Given the description of an element on the screen output the (x, y) to click on. 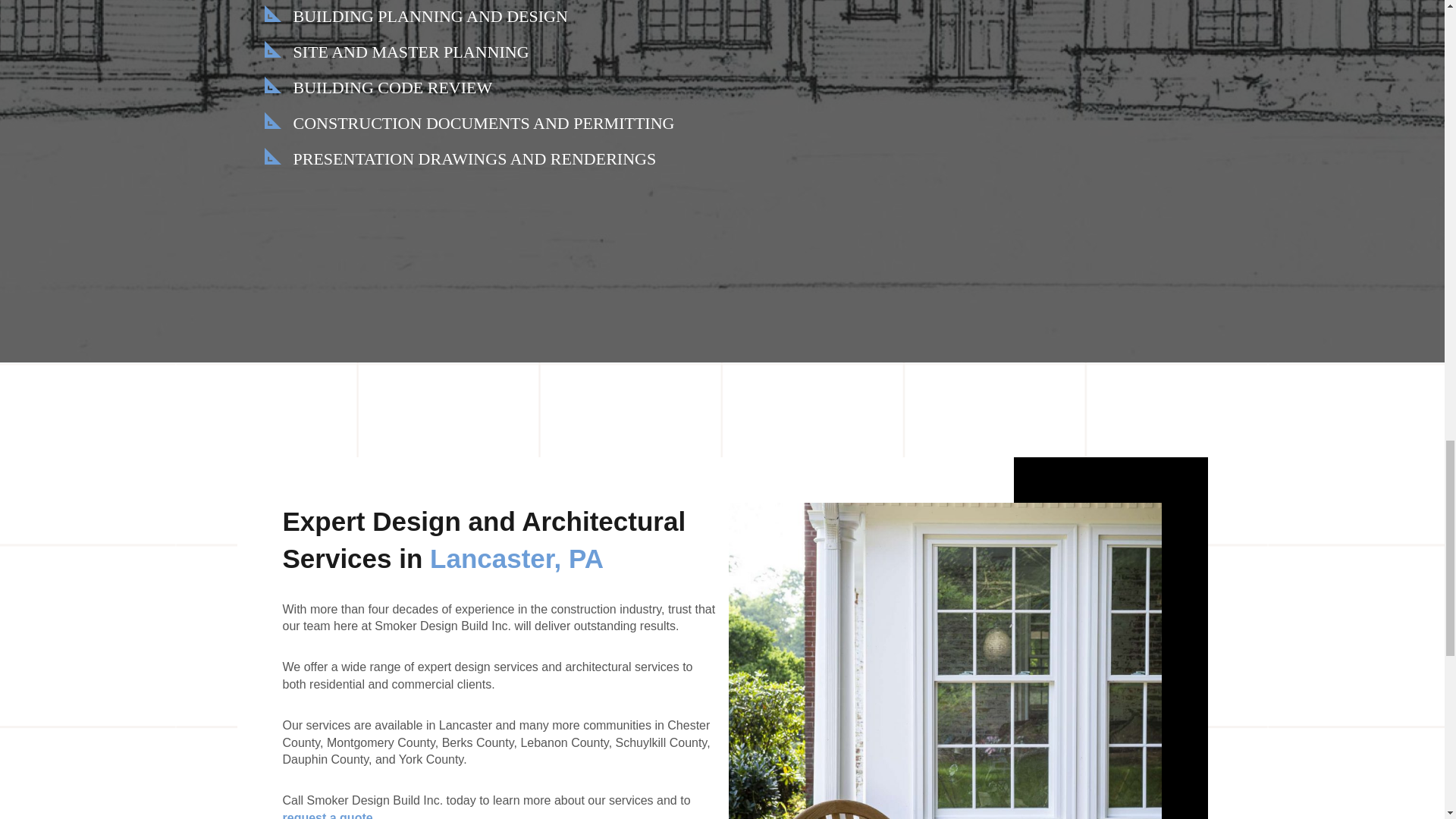
request a quote (327, 815)
Lancaster, PA (516, 558)
